Given the description of an element on the screen output the (x, y) to click on. 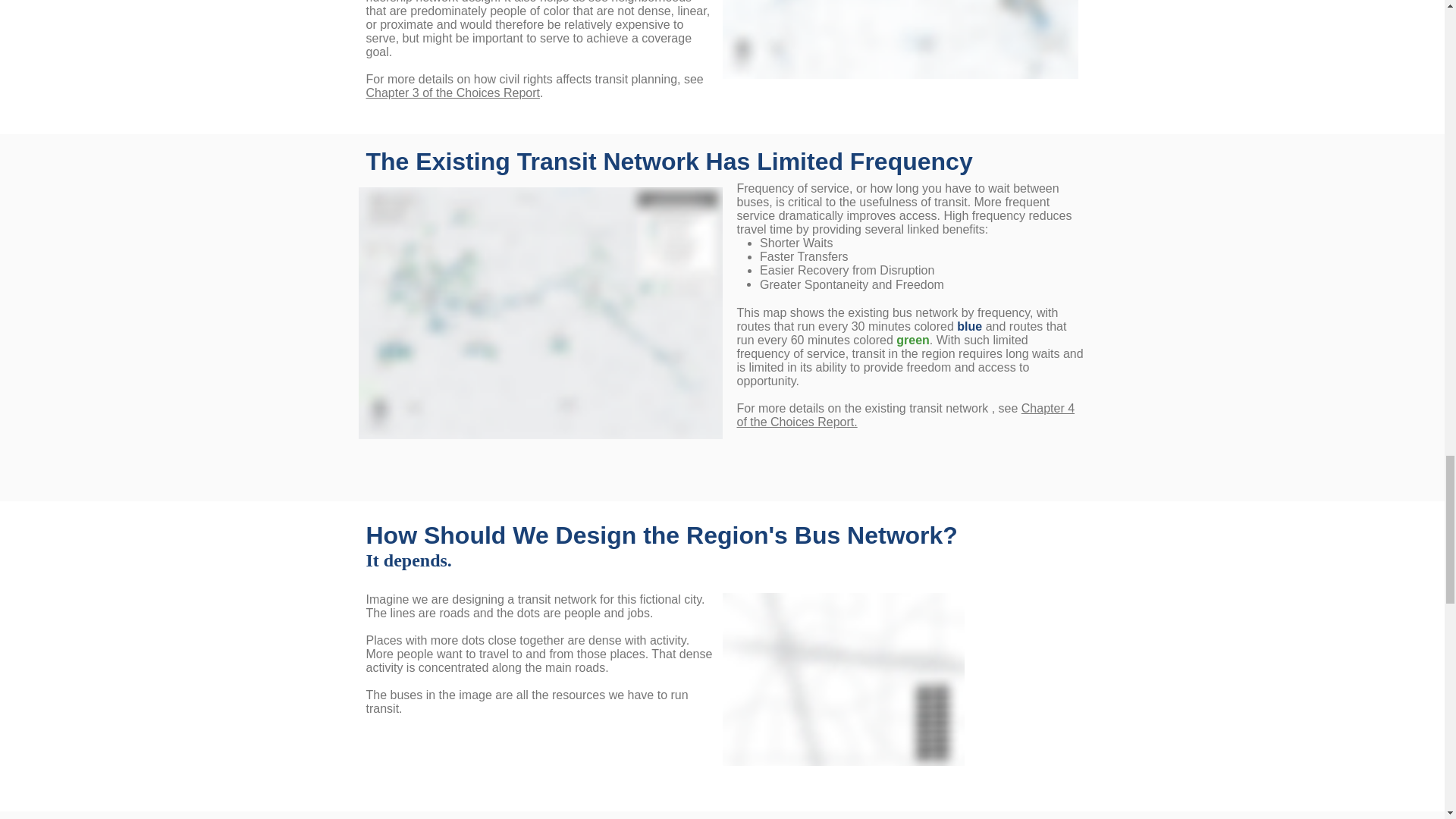
Chapter 3 of the Choices Report (451, 92)
Regional Transit Network (540, 312)
Race and Ethnicity in St. Joseph and Elkhart Counties (899, 39)
Chapter 4 of the Choices Report. (905, 415)
